Given the description of an element on the screen output the (x, y) to click on. 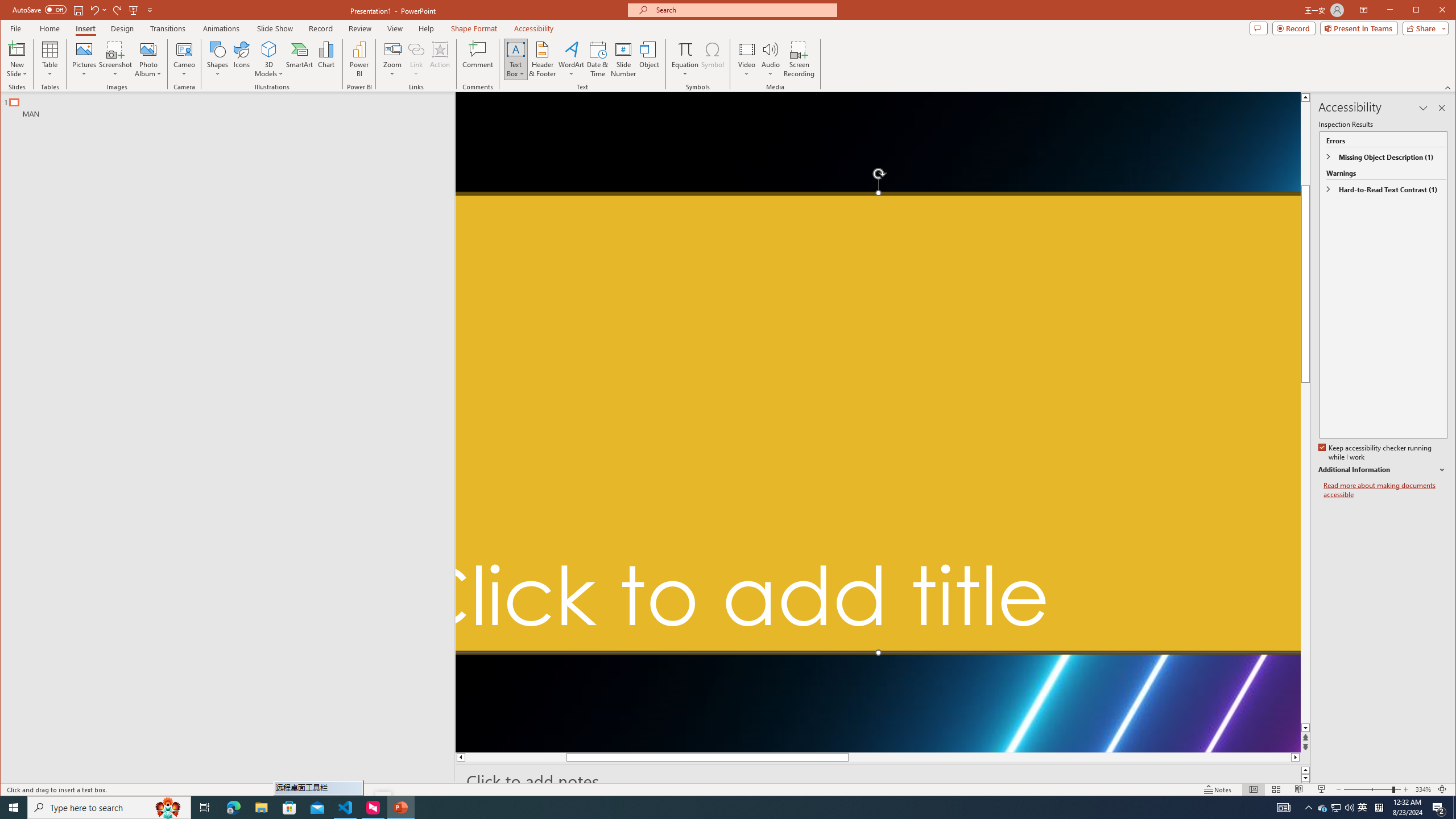
Header & Footer... (542, 59)
Link (416, 59)
Draw Horizontal Text Box (515, 48)
Equation (685, 59)
